Given the description of an element on the screen output the (x, y) to click on. 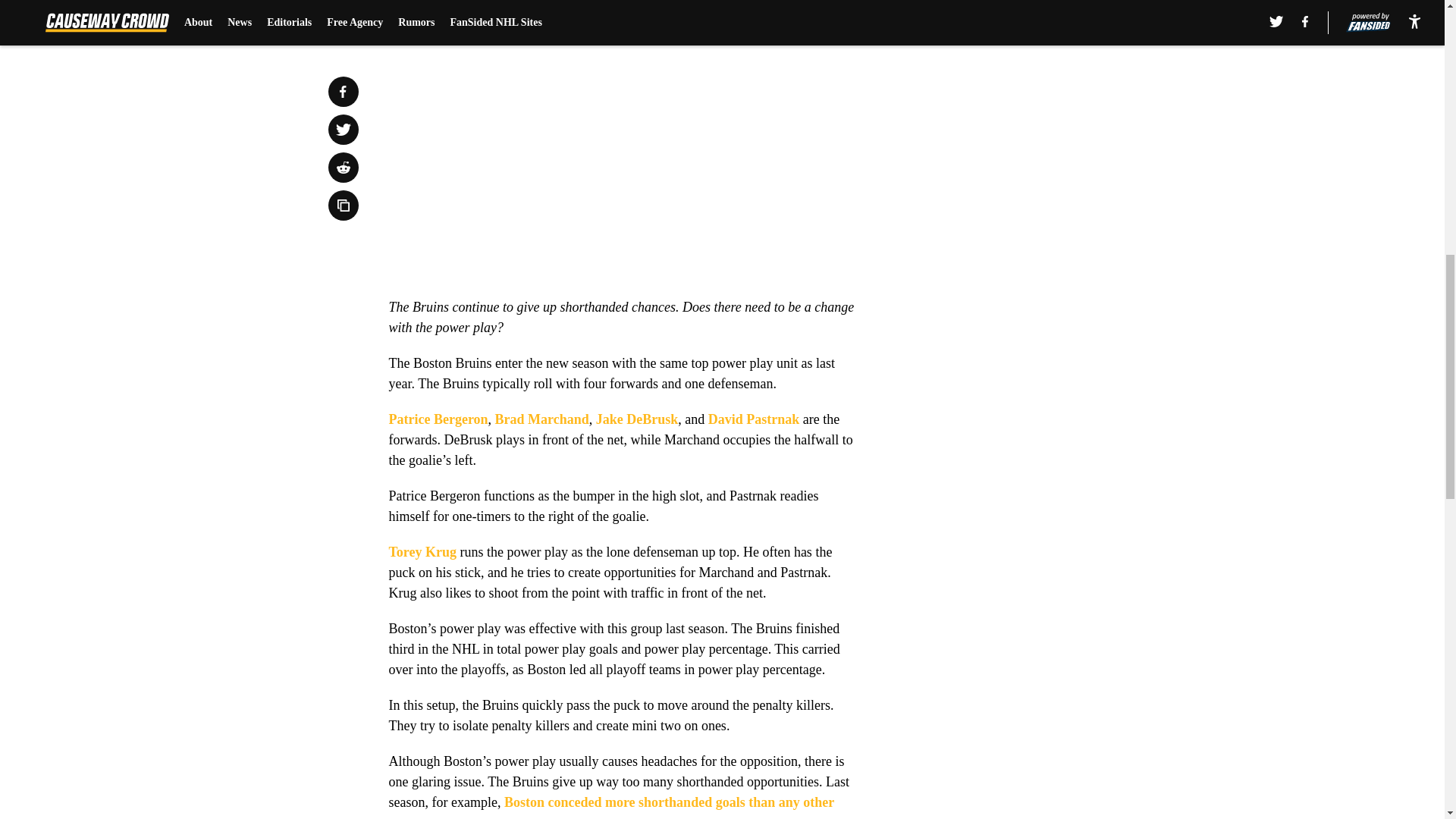
David Pastrnak (753, 418)
Jake DeBrusk (636, 418)
Patrice Bergeron (437, 418)
Brad Marchand (542, 418)
Boston conceded more shorthanded goals than any other team (610, 806)
Torey Krug (422, 551)
